Given the description of an element on the screen output the (x, y) to click on. 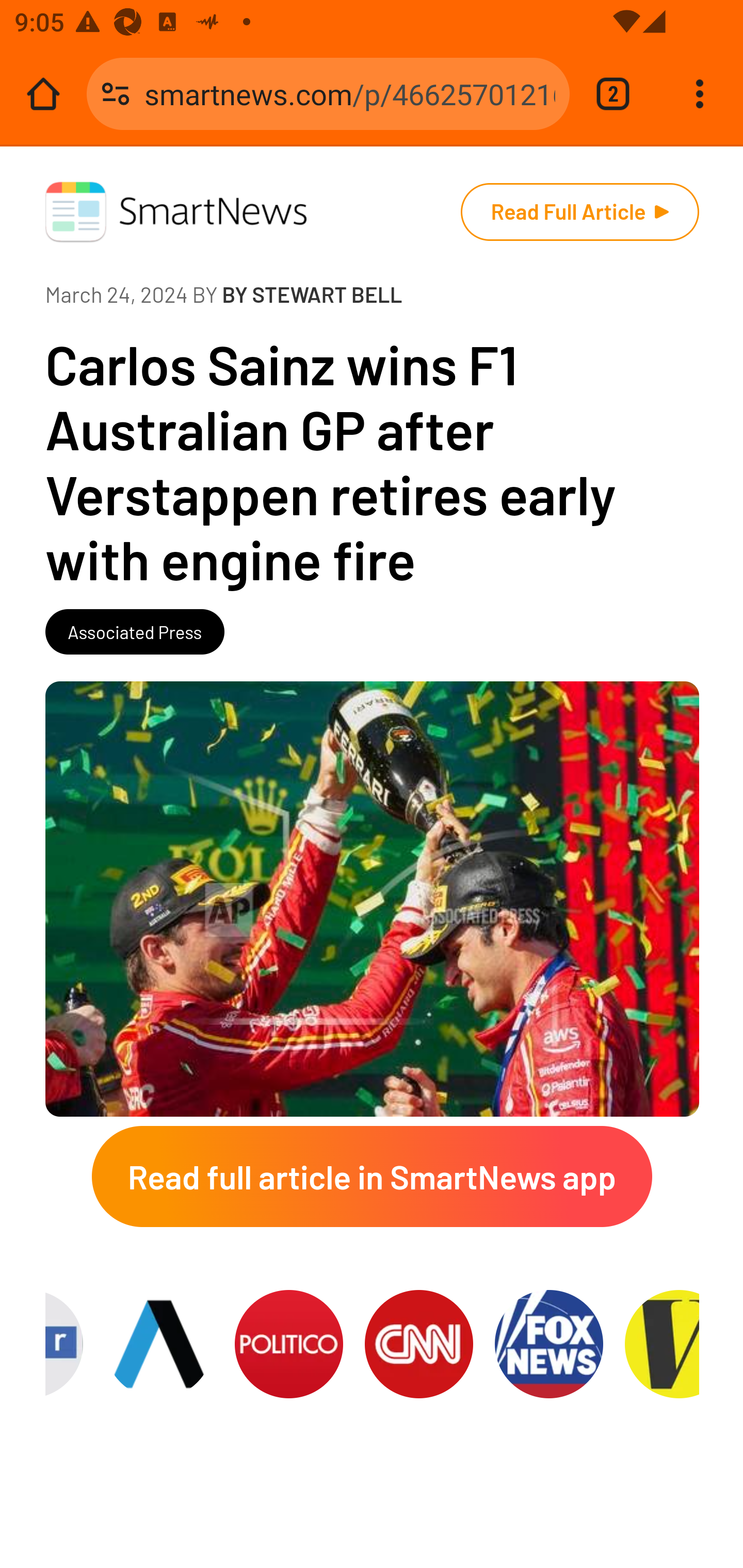
Open the home page (43, 93)
Connection is secure (115, 93)
Switch or close tabs (612, 93)
Customize and control Google Chrome (699, 93)
Read Full Article Smartnews logo (579, 211)
Read full article in SmartNews app (371, 1184)
